Given the description of an element on the screen output the (x, y) to click on. 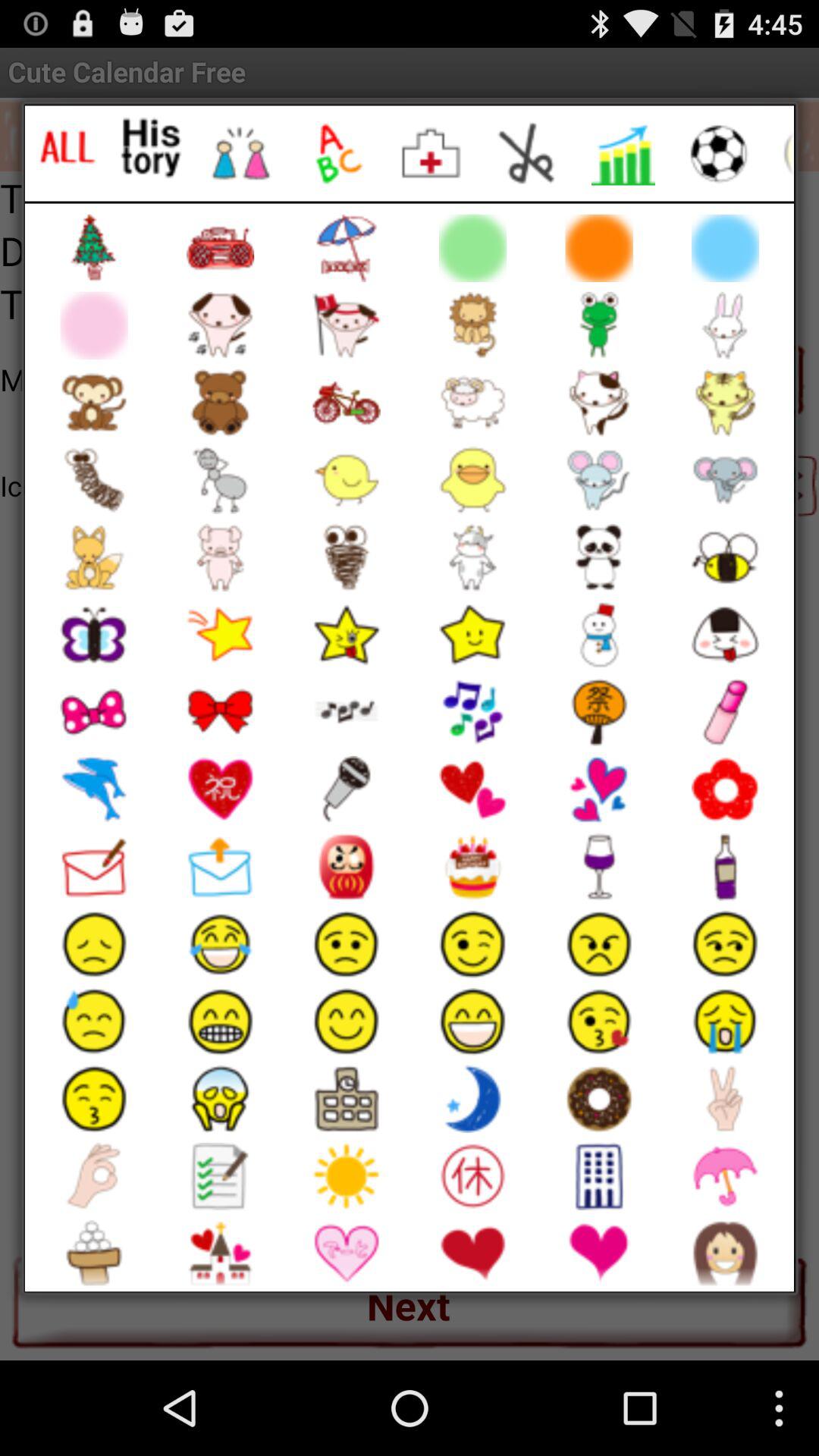
people emoji (240, 153)
